Given the description of an element on the screen output the (x, y) to click on. 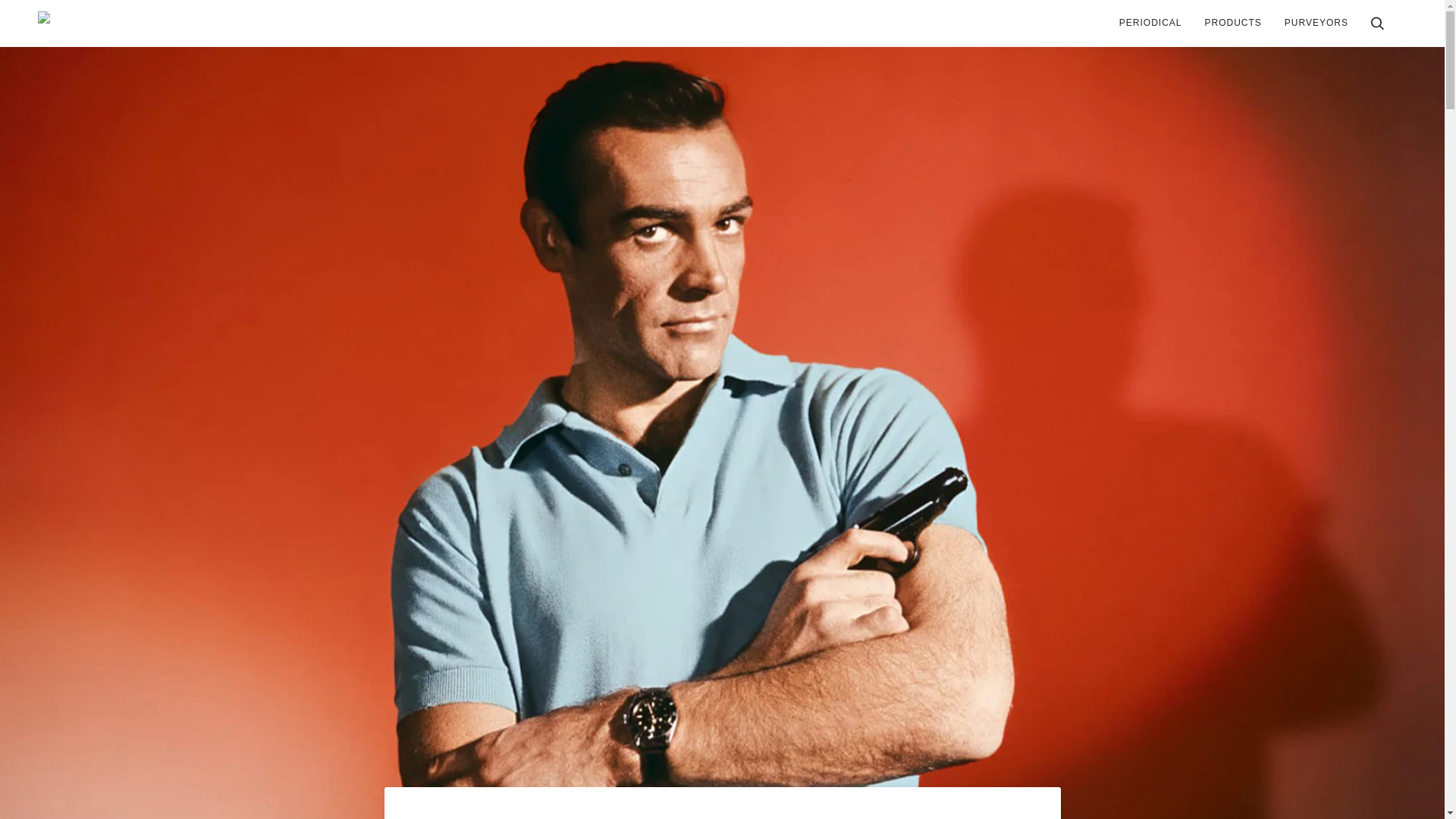
PURVEYORS (1315, 22)
PERIODICAL (1150, 22)
PRODUCTS (1232, 22)
